Given the description of an element on the screen output the (x, y) to click on. 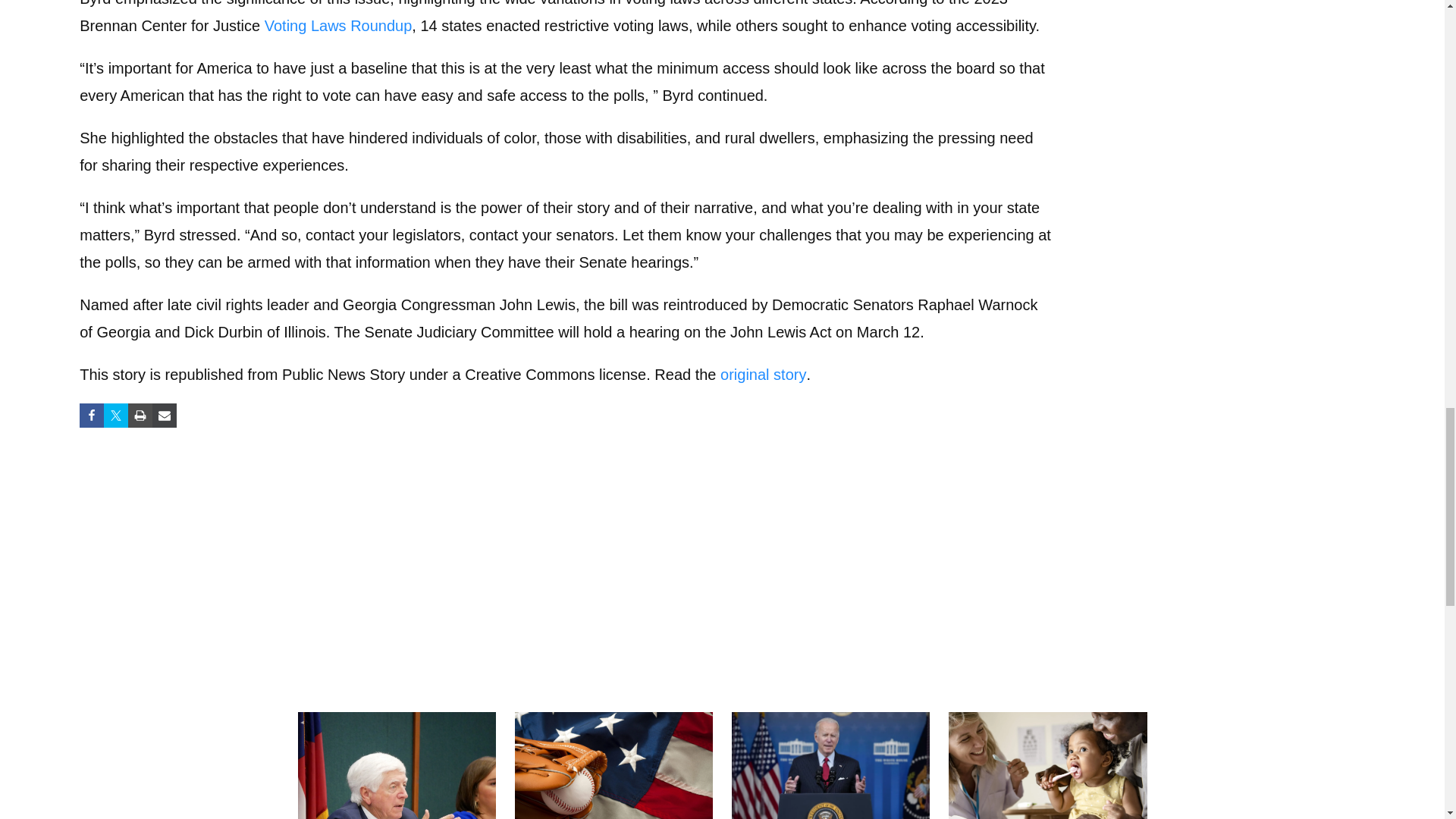
original story (763, 374)
Voting Laws Roundup (338, 25)
Print this Page (140, 415)
Share on Twitter (115, 415)
Share via Email (164, 415)
Share on Facebook (91, 415)
